Given the description of an element on the screen output the (x, y) to click on. 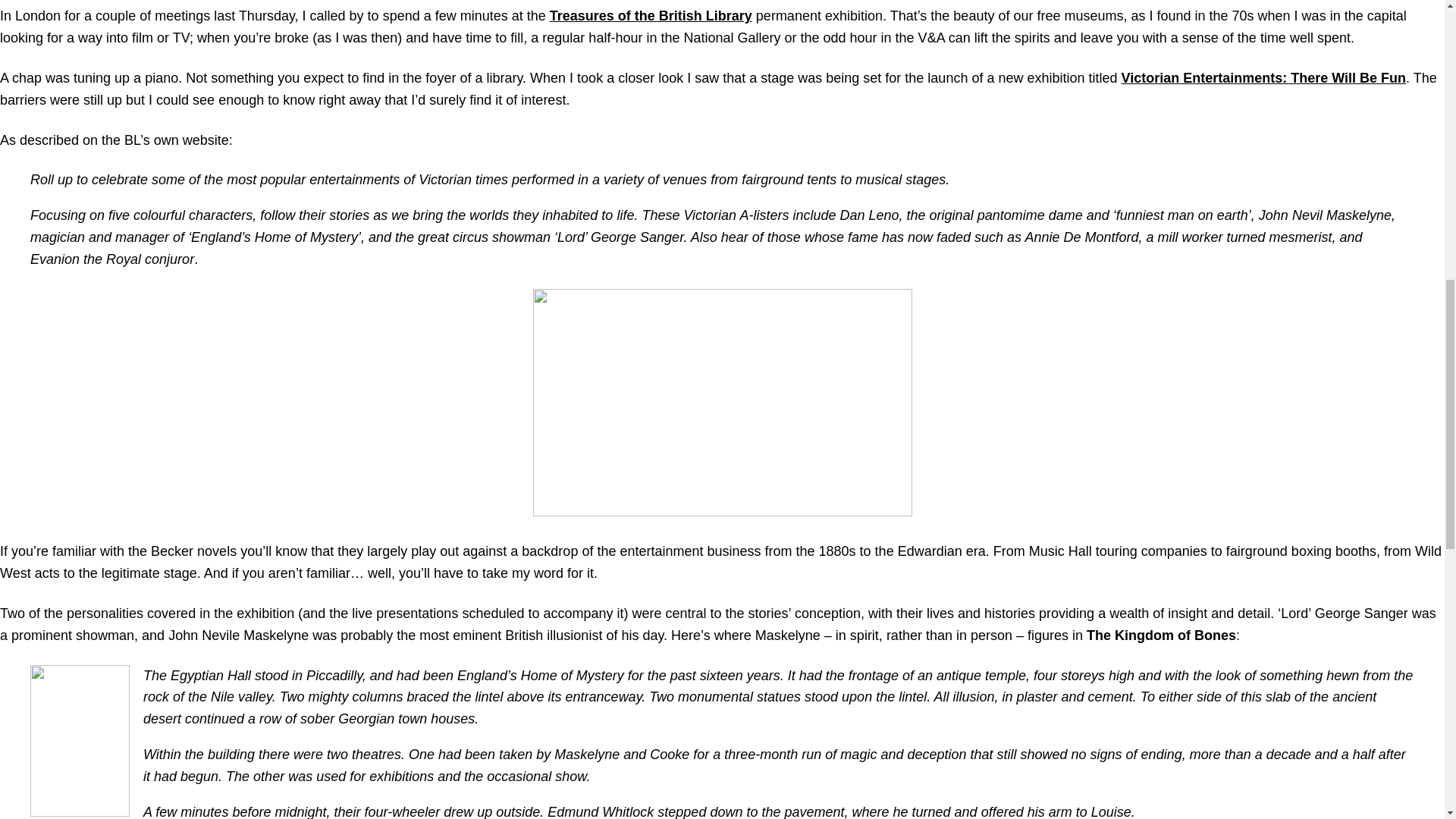
Treasures of the British Library (651, 15)
Victorian Entertainments: There Will Be Fun (1263, 77)
